Given the description of an element on the screen output the (x, y) to click on. 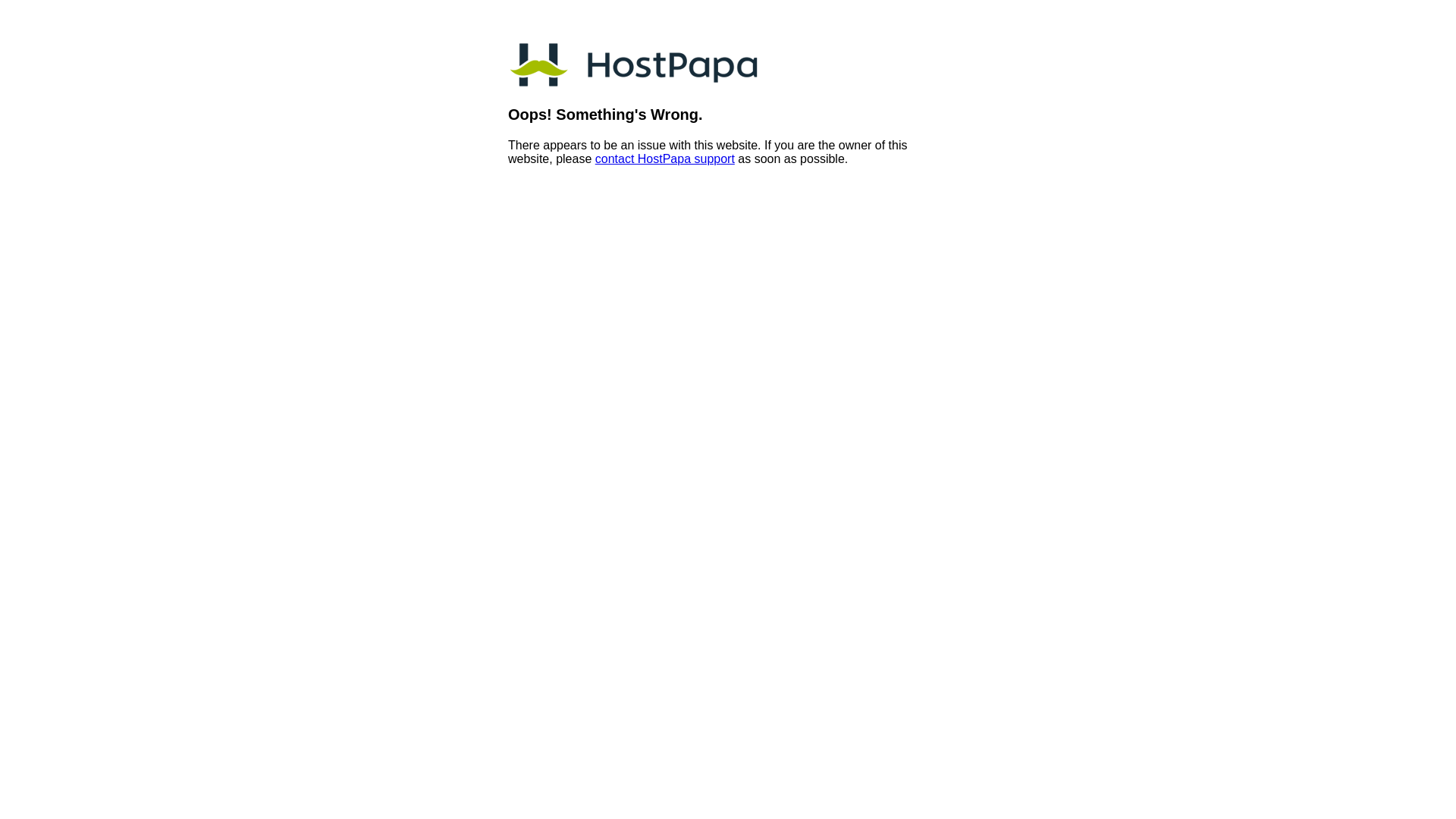
contact HostPapa support Element type: text (664, 158)
